Given the description of an element on the screen output the (x, y) to click on. 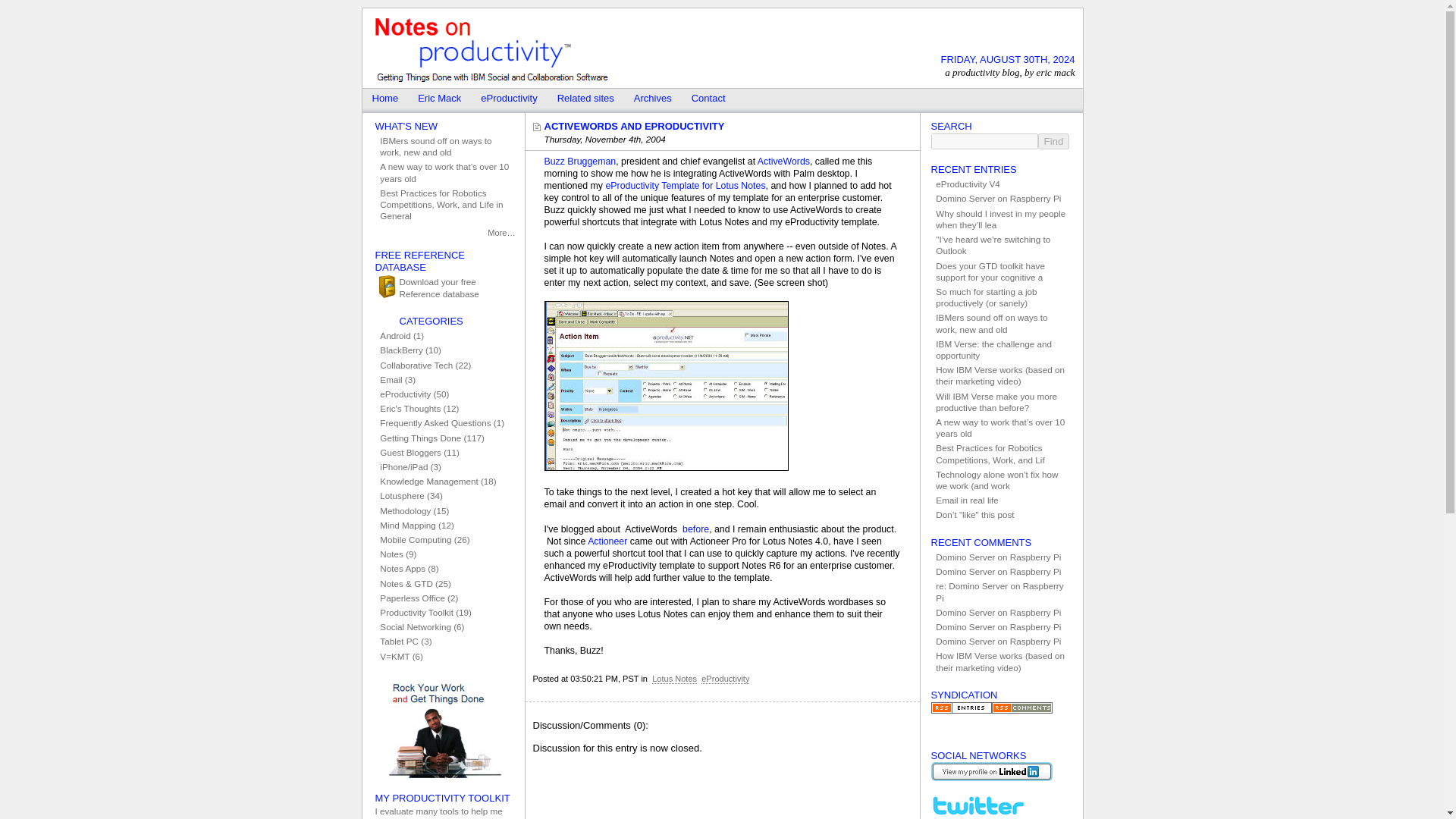
ActiveWords and eProductivity (630, 125)
IBMers sound off on ways to work, new and old (444, 145)
Lotus Notes (674, 678)
Category: eProductivity (725, 678)
Download your free eProductivity Reference database now (444, 287)
Actioneer (607, 541)
Find (1052, 141)
Home (385, 100)
